Given the description of an element on the screen output the (x, y) to click on. 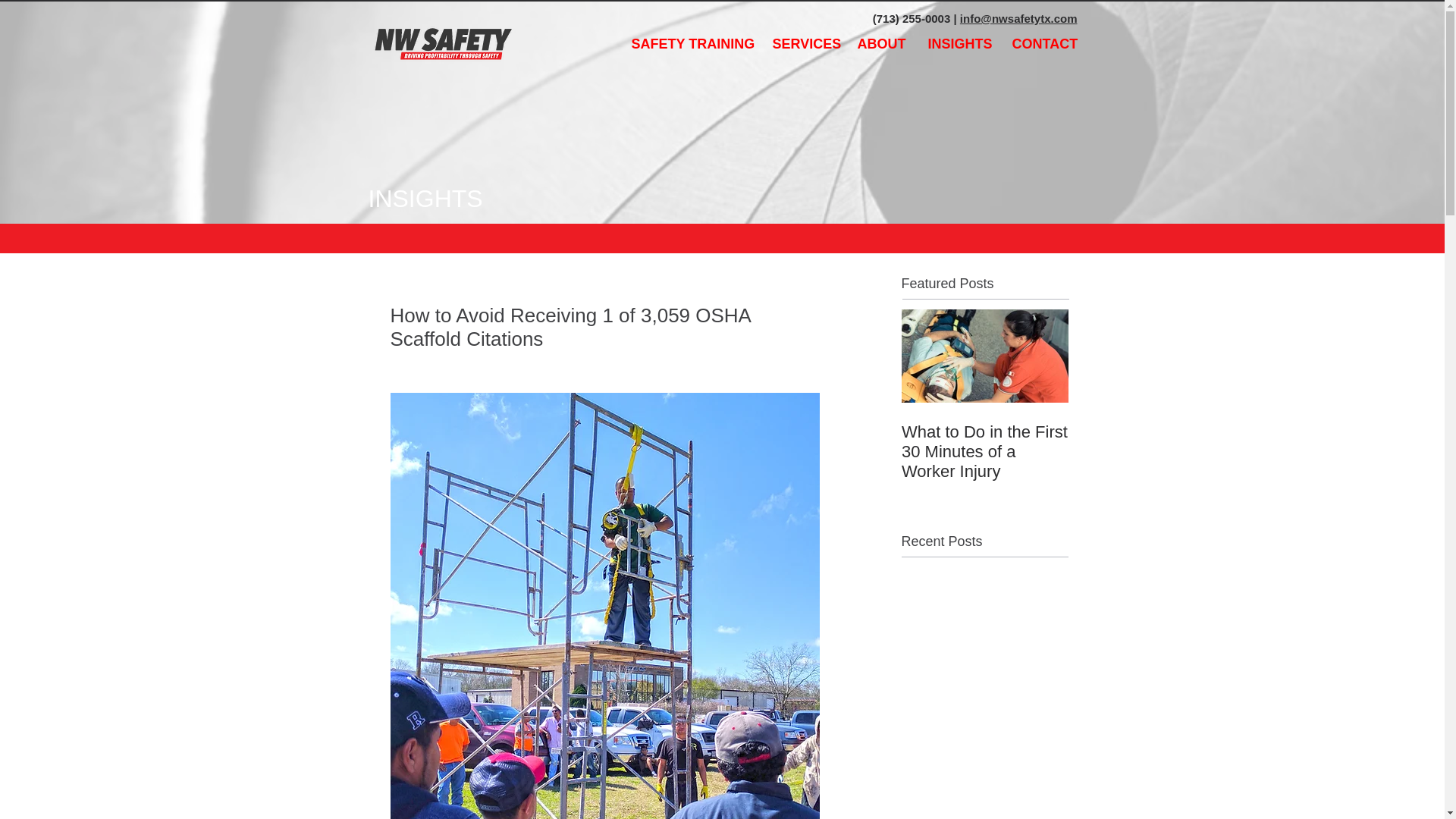
INSIGHTS (957, 44)
ABOUT (881, 44)
White Logo.png (439, 41)
SERVICES (803, 44)
CONTACT (1044, 44)
What to Do in the First 30 Minutes of a Worker Injury (984, 451)
SAFETY TRAINING (690, 44)
